Given the description of an element on the screen output the (x, y) to click on. 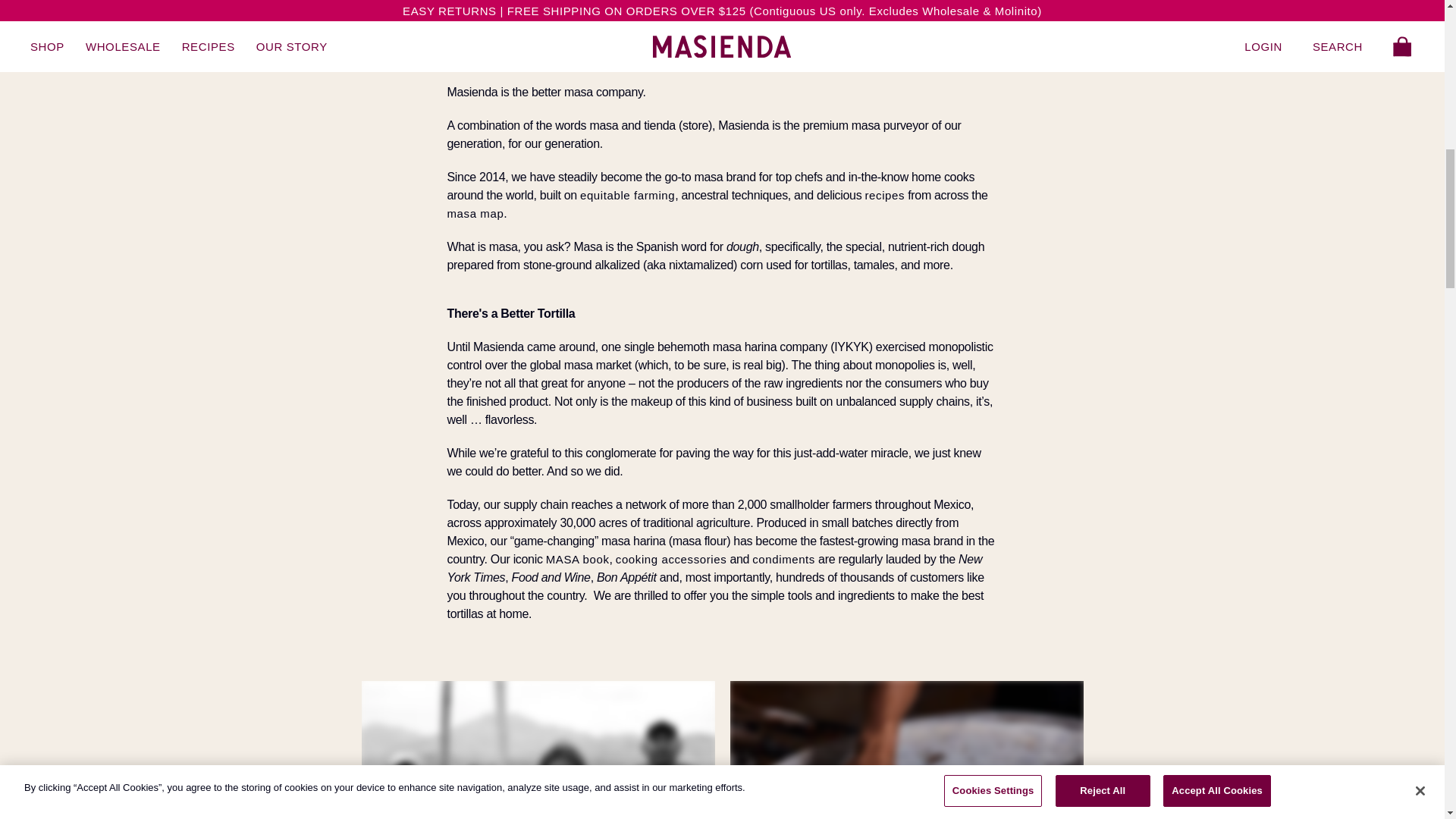
equitable farming (627, 195)
MASA book (578, 558)
recipes (884, 195)
cooking accessories (670, 558)
condiments (783, 558)
masa map (474, 213)
